Given the description of an element on the screen output the (x, y) to click on. 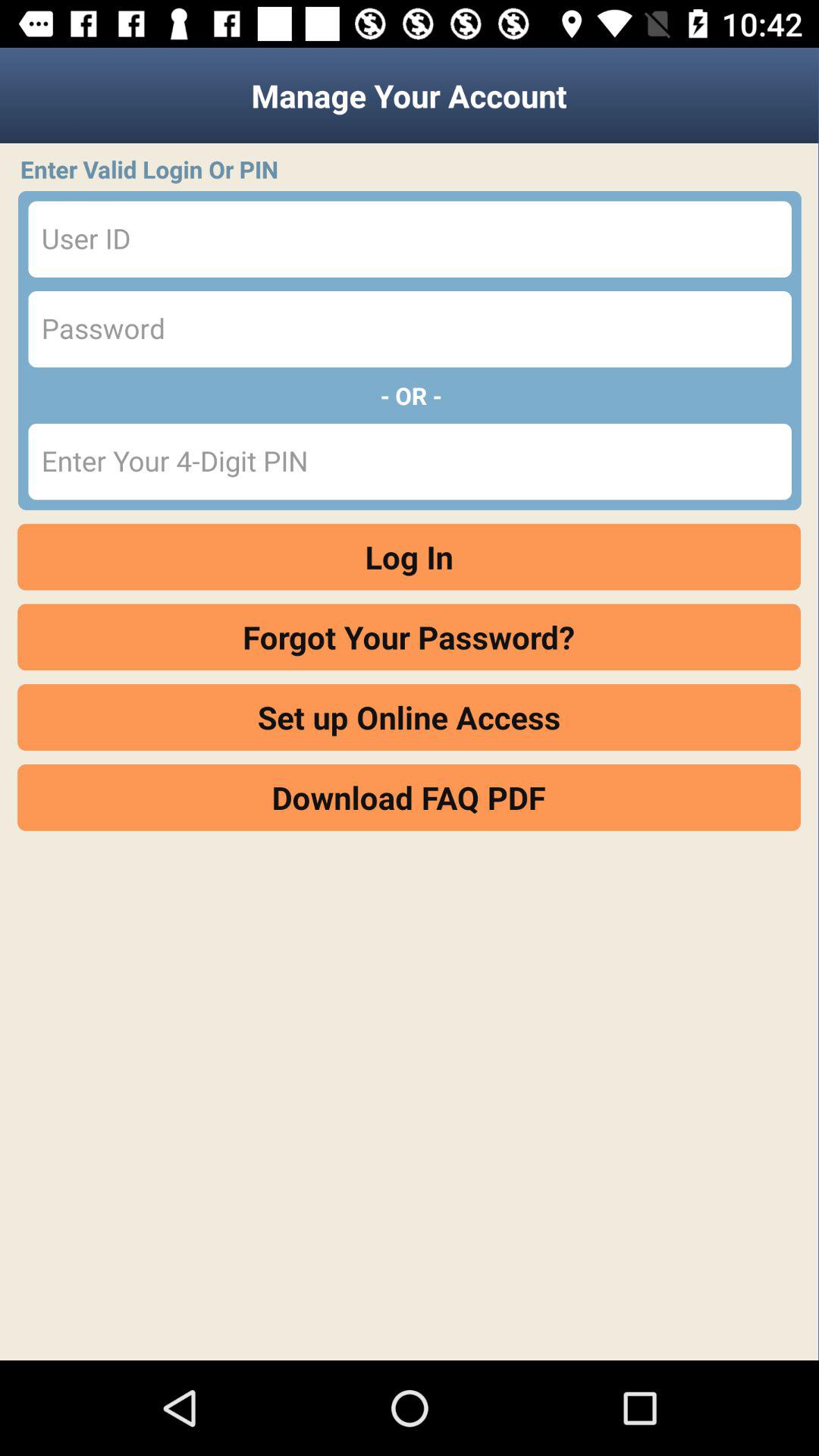
tap item above set up online (408, 637)
